Given the description of an element on the screen output the (x, y) to click on. 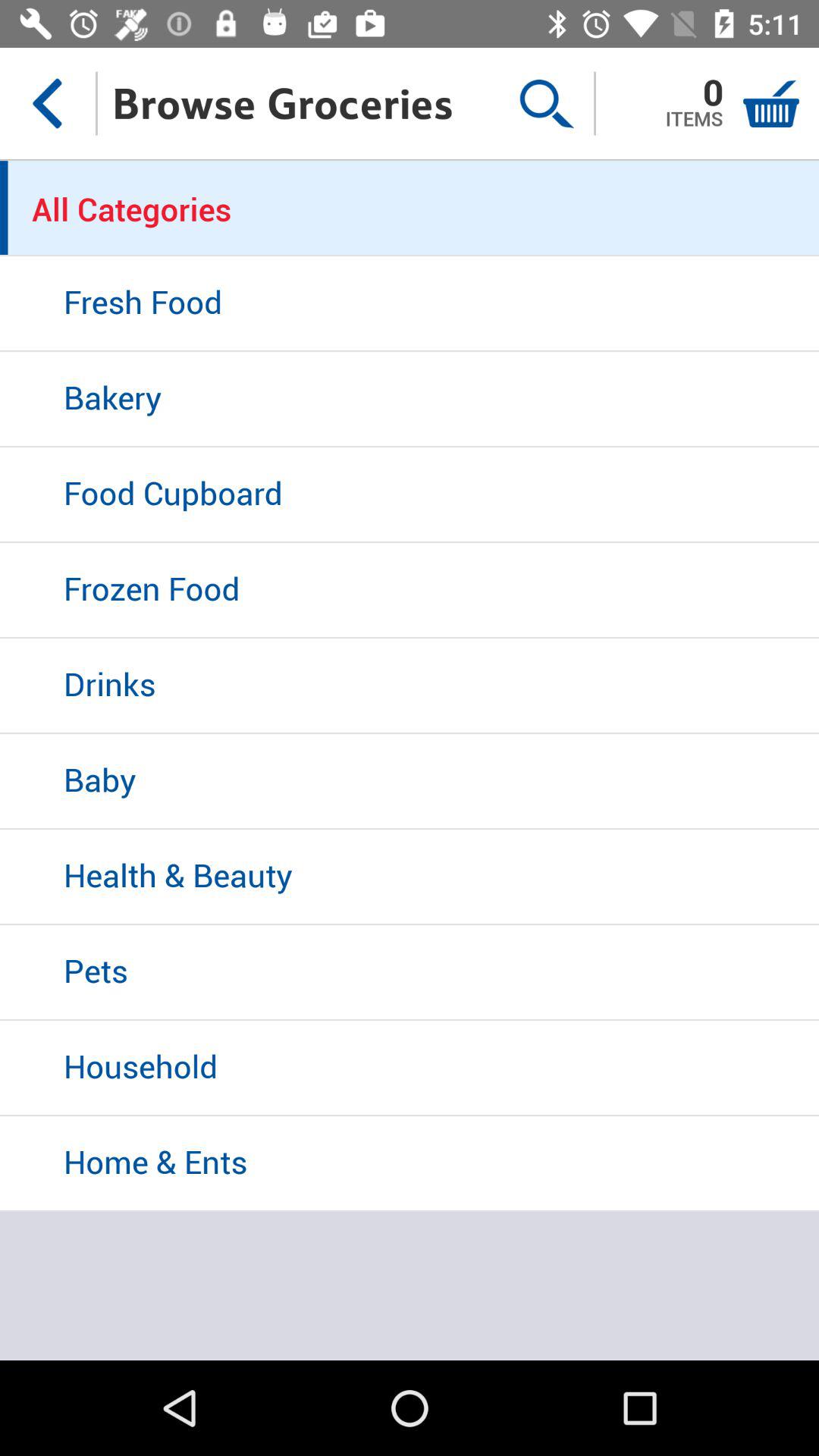
turn off icon below household (409, 1164)
